Given the description of an element on the screen output the (x, y) to click on. 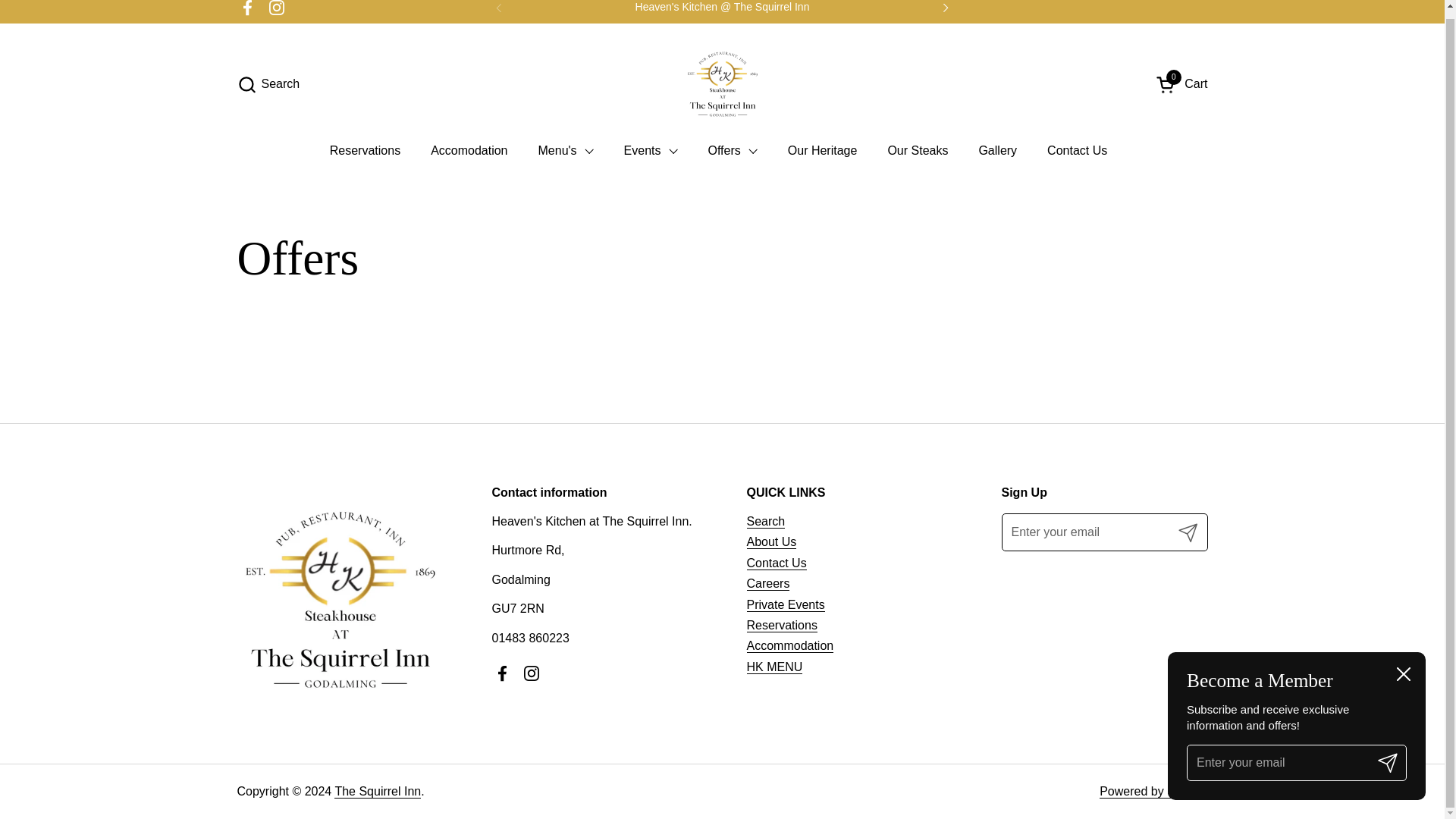
Open cart (1181, 83)
Contact Us (1077, 150)
The Squirrel Inn (722, 83)
Our Steaks (917, 150)
Our Heritage (822, 150)
Menu's (565, 150)
Gallery (997, 150)
Instagram (276, 11)
Open search (267, 83)
Search (267, 83)
Events (650, 150)
Facebook (247, 11)
Reservations (364, 150)
Accomodation (468, 150)
